Given the description of an element on the screen output the (x, y) to click on. 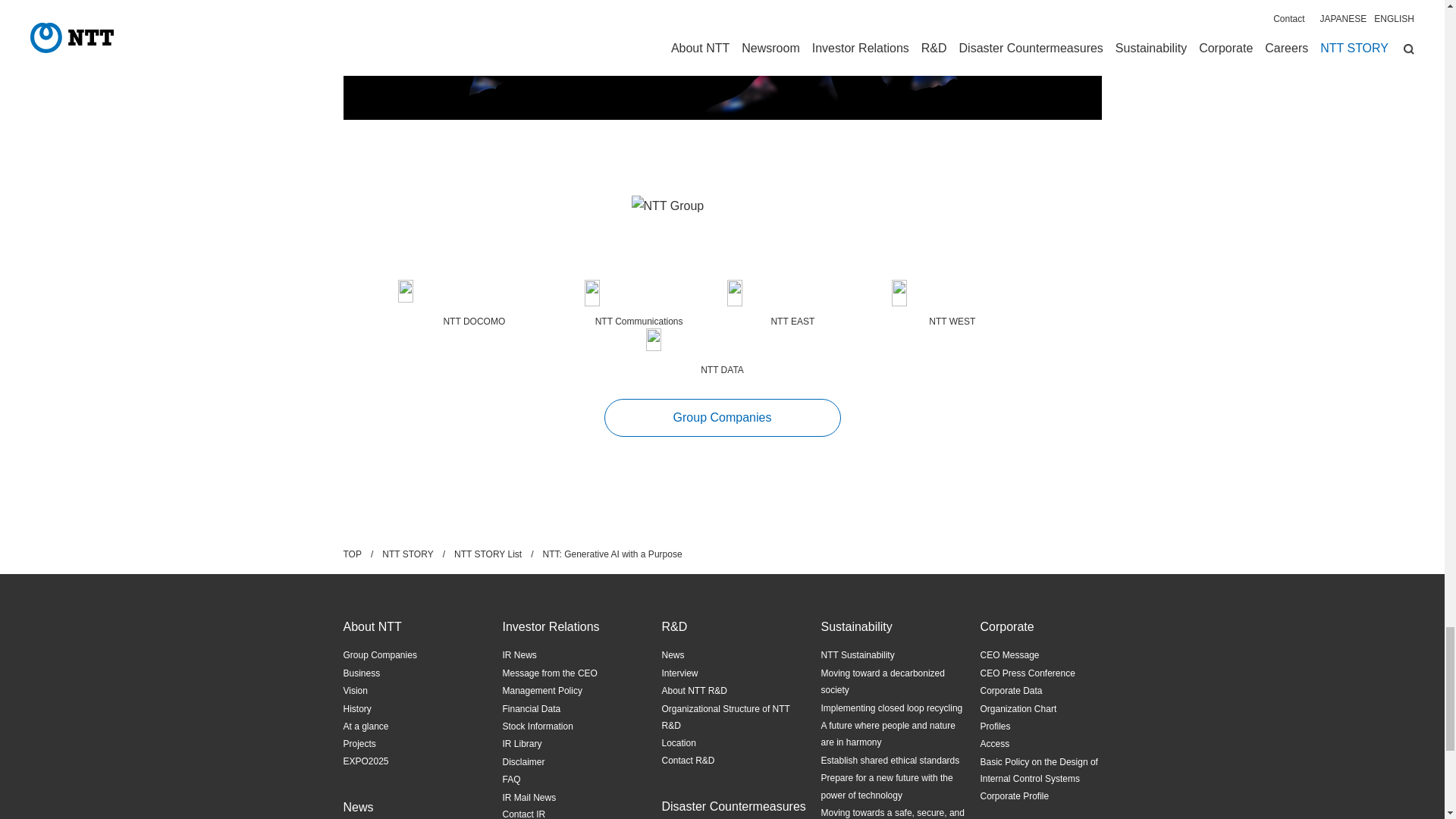
NTT WEST (951, 304)
NTT EAST (791, 304)
NTT DOCOMO (473, 304)
NTT Communications (639, 304)
NTT DATA (721, 352)
